Given the description of an element on the screen output the (x, y) to click on. 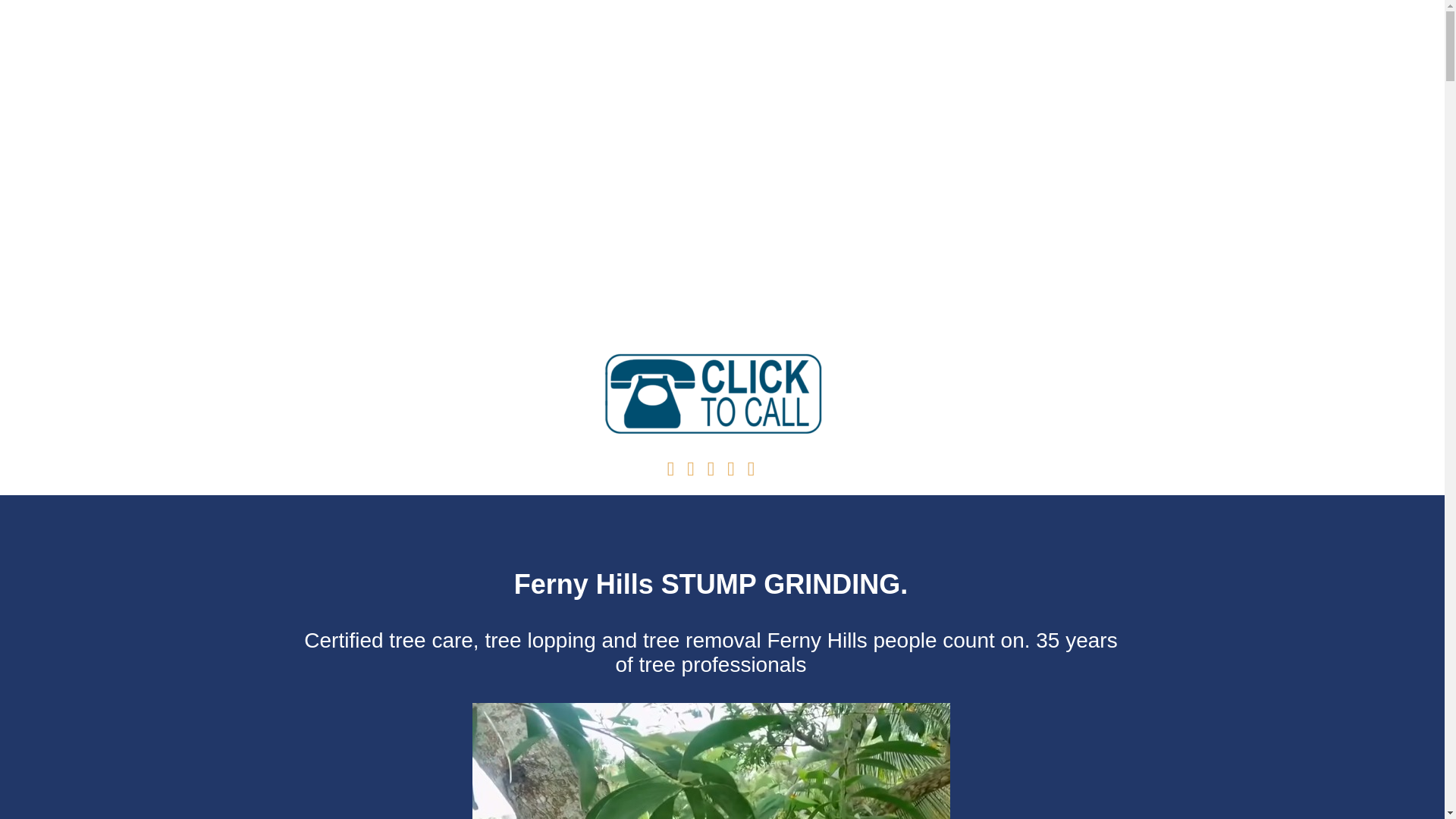
Ferny Hills STUMP GRINDING. (710, 583)
